Given the description of an element on the screen output the (x, y) to click on. 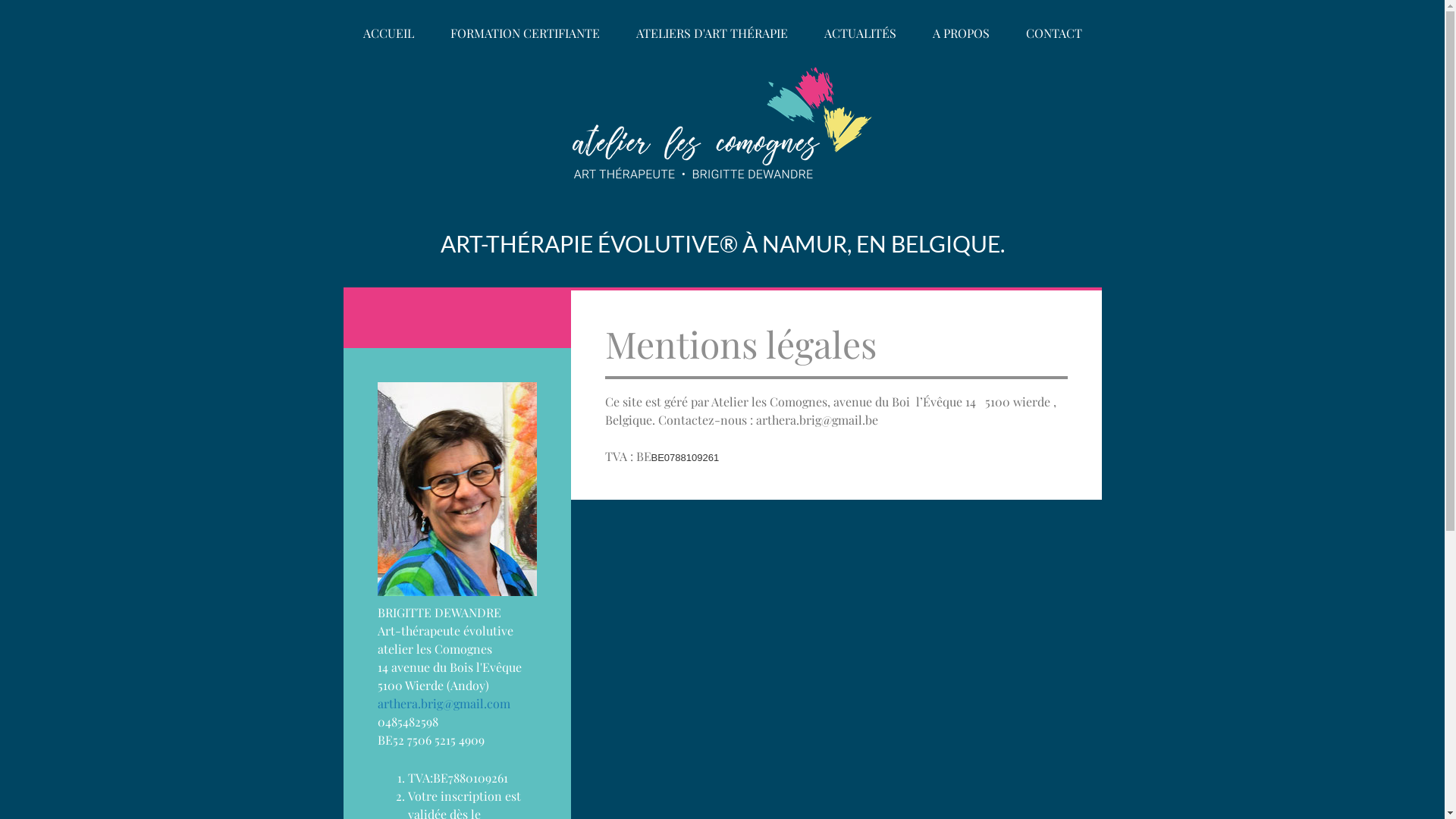
A PROPOS Element type: text (960, 34)
arthera.brig@gmail.com Element type: text (443, 703)
ACCUEIL Element type: text (387, 34)
FORMATION CERTIFIANTE Element type: text (525, 34)
CONTACT Element type: text (1053, 34)
